Given the description of an element on the screen output the (x, y) to click on. 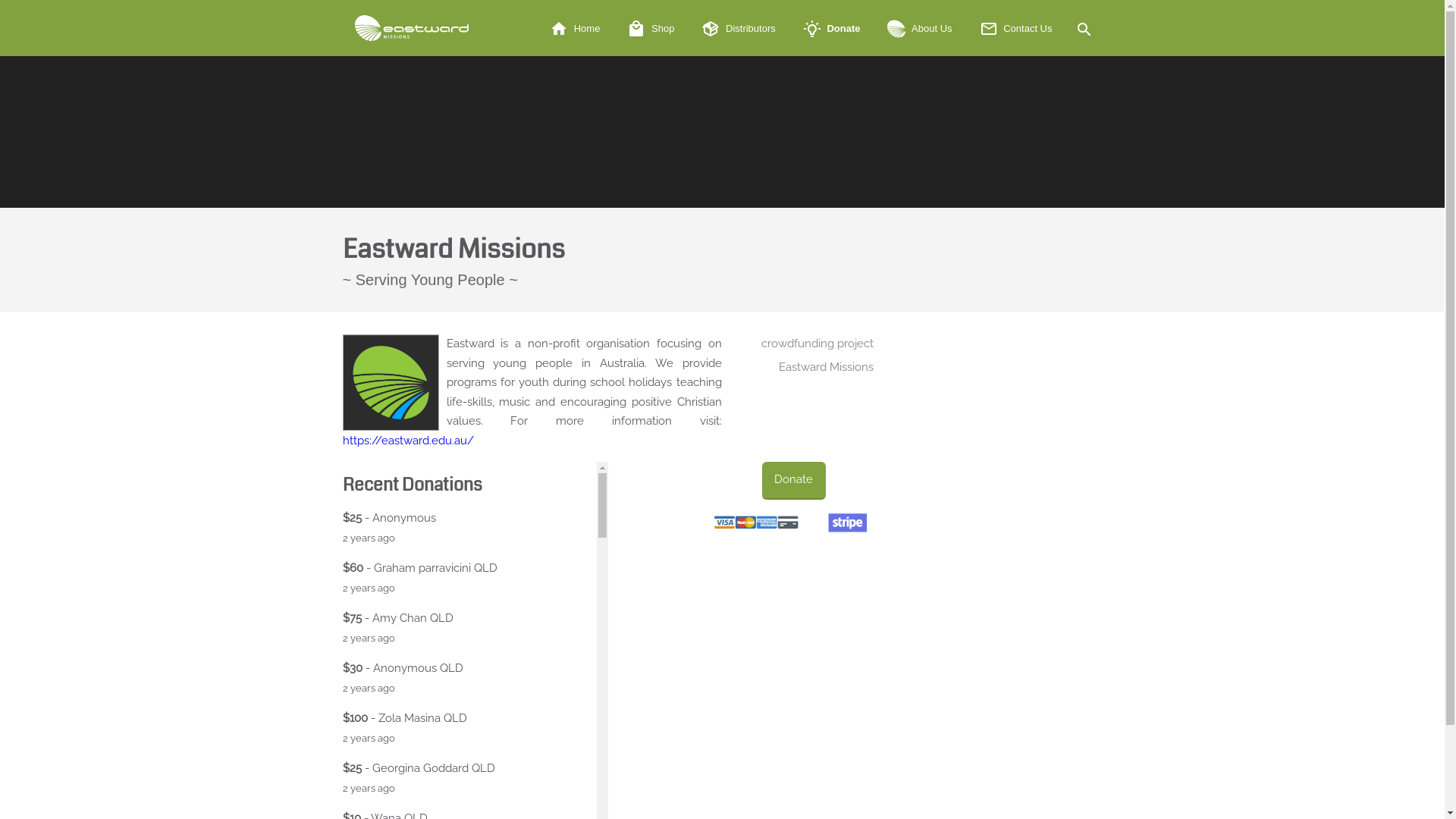
Contact Us Element type: text (1016, 28)
Home Element type: text (574, 28)
About Us Element type: text (919, 28)
Search this site Element type: hover (1082, 27)
https://eastward.edu.au/ Element type: text (407, 440)
Shop Element type: text (650, 28)
Eastward Missions Element type: hover (411, 27)
Donate Element type: text (793, 480)
Distributors Element type: text (737, 28)
Donate Element type: text (831, 28)
